Given the description of an element on the screen output the (x, y) to click on. 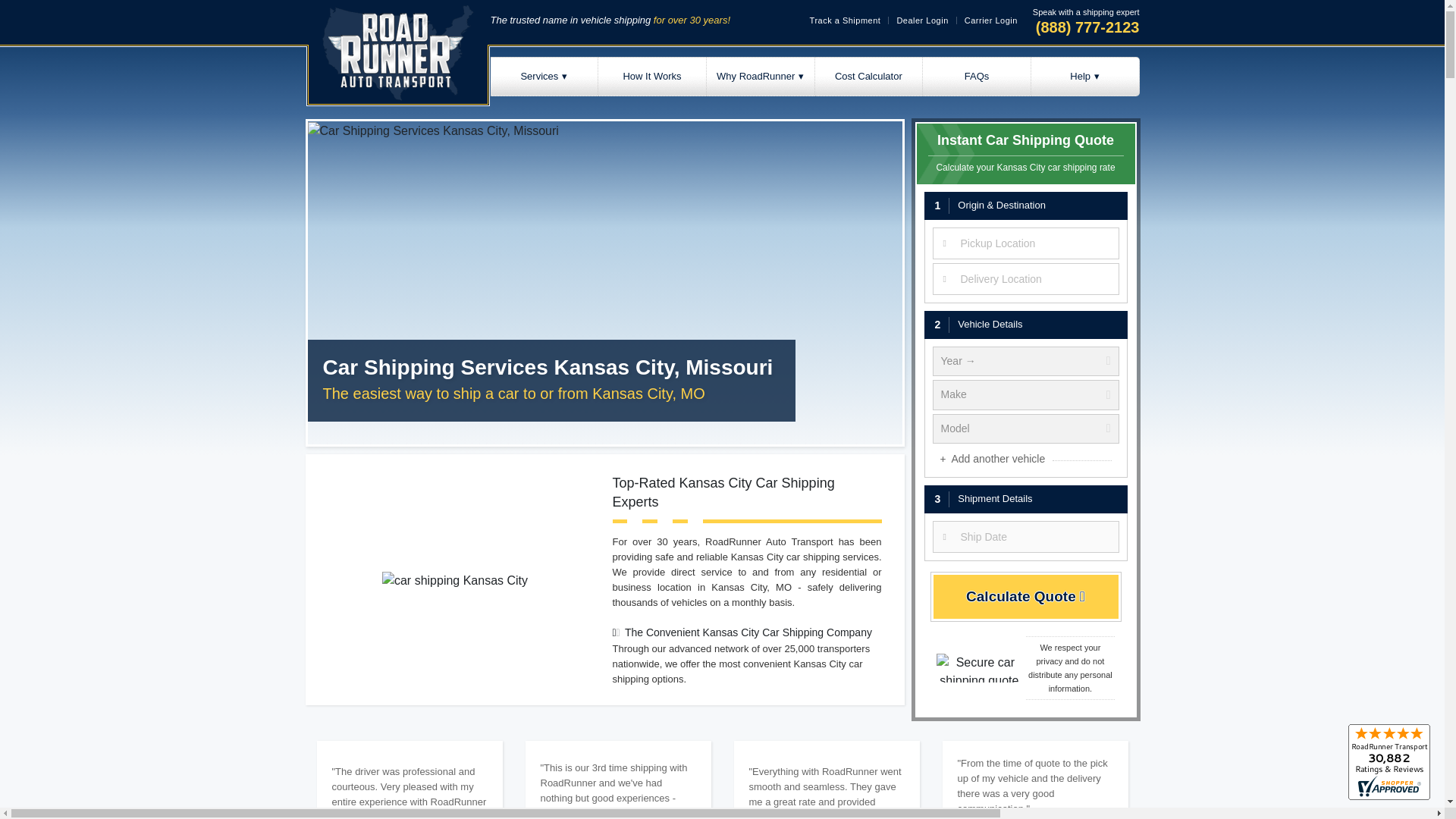
RoadRunner Auto Transport Logo (396, 54)
Dealer Login (921, 20)
Car Shipping Services Kansas City, Missouri (433, 131)
Track a Shipment (844, 20)
RoadRunner Customer Reviews (1388, 761)
Secure Car Shipping Quote (979, 667)
Carrier Login (990, 20)
Car Shipping Kansas City (454, 580)
